Given the description of an element on the screen output the (x, y) to click on. 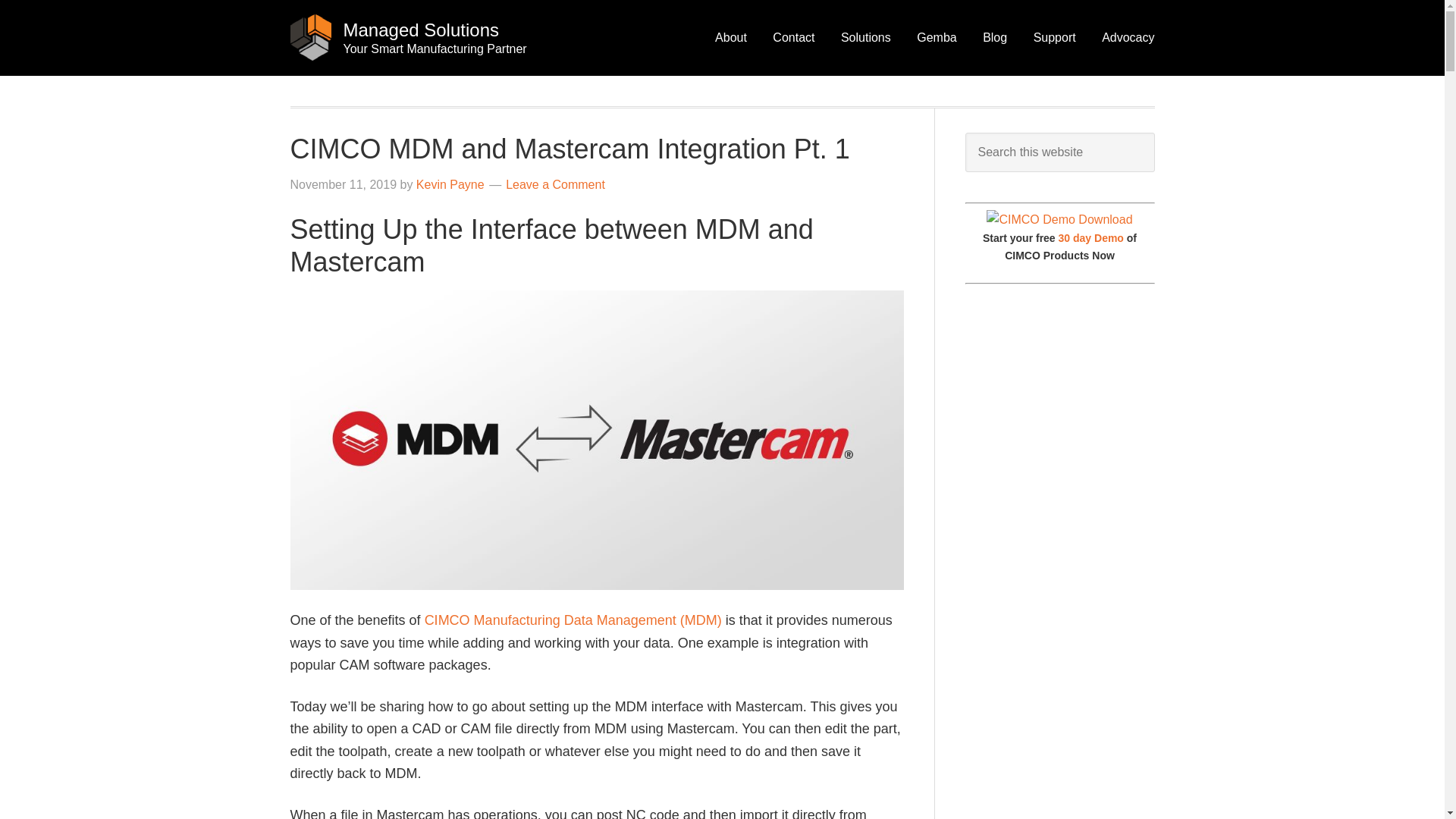
Kevin Payne (450, 184)
Gemba (936, 37)
Managed Solutions (419, 29)
Advocacy (1128, 37)
Contact (793, 37)
Support (1054, 37)
About (730, 37)
Leave a Comment (555, 184)
Solutions (866, 37)
